Given the description of an element on the screen output the (x, y) to click on. 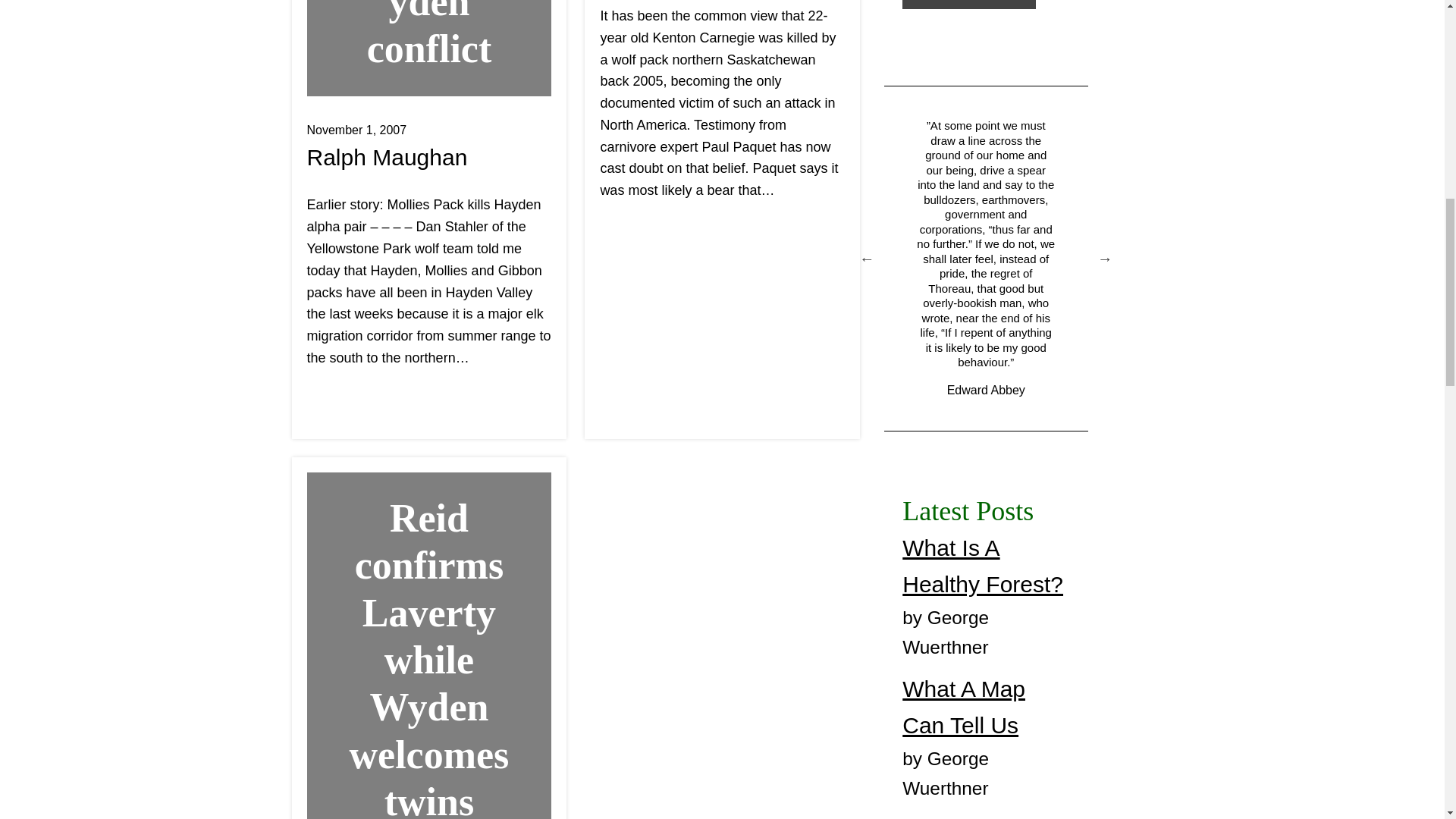
Subscribe (968, 4)
